Given the description of an element on the screen output the (x, y) to click on. 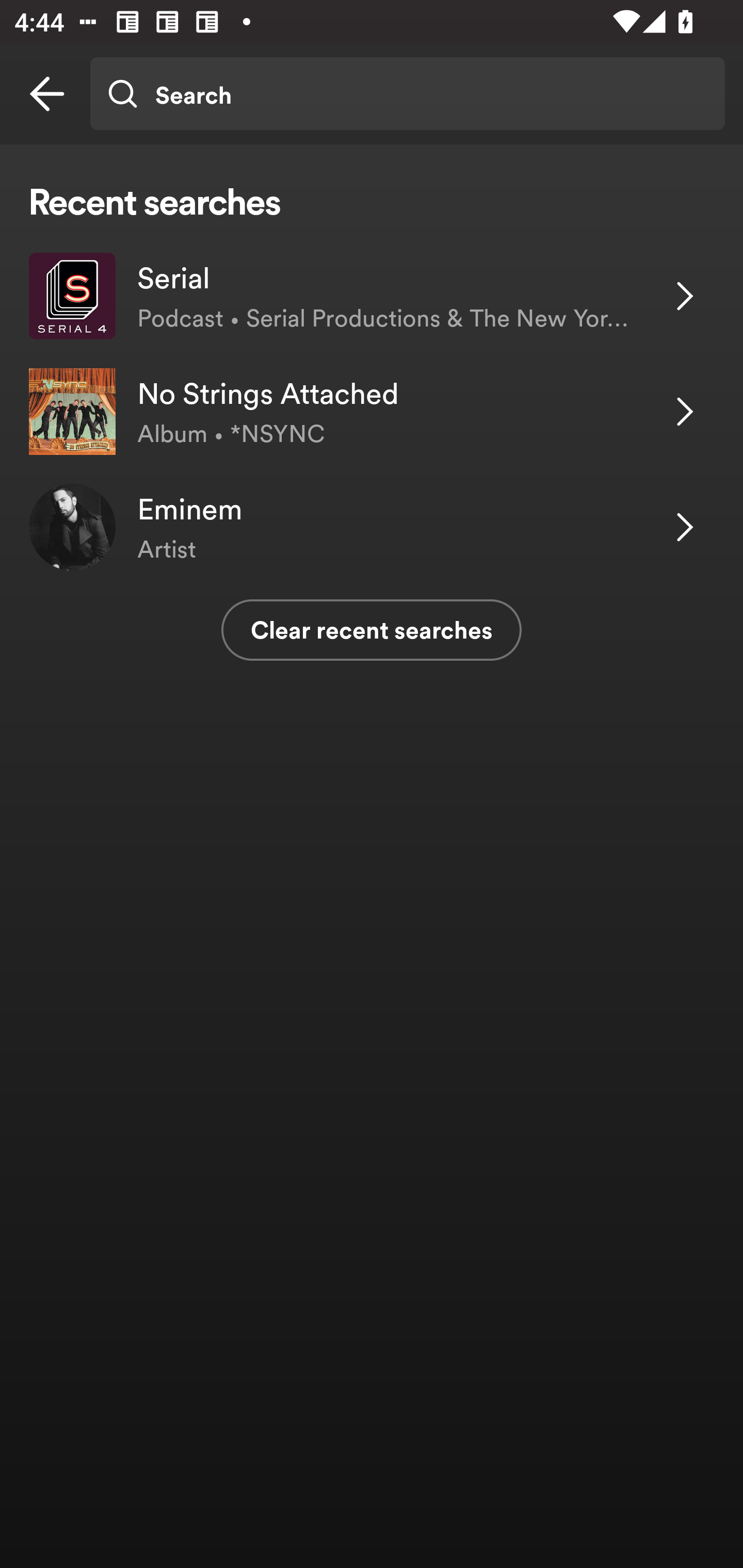
Back (46, 93)
Search (407, 94)
No Strings Attached Album • *NSYNC (371, 411)
Eminem Artist (371, 526)
Clear recent searches (371, 629)
